Given the description of an element on the screen output the (x, y) to click on. 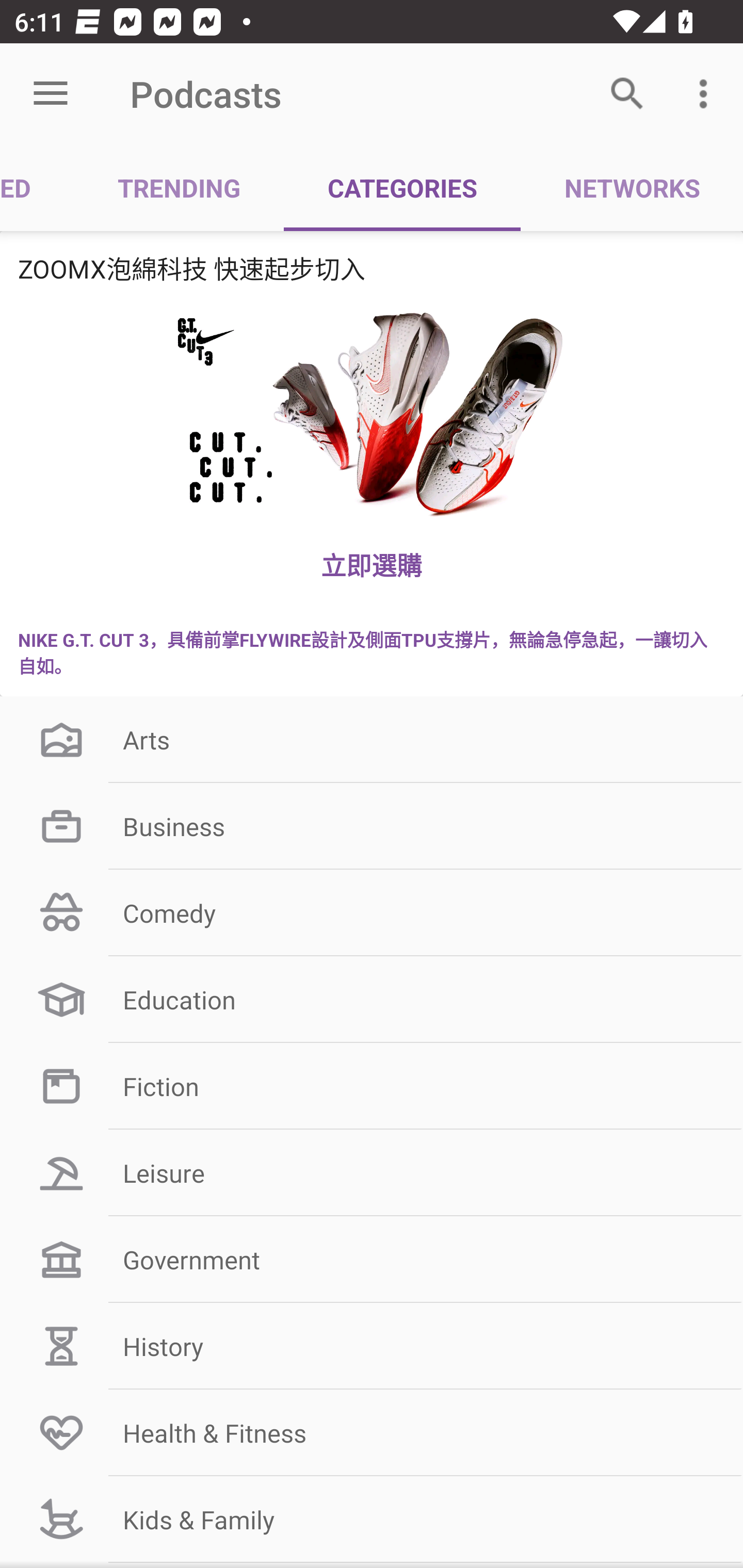
Open menu (50, 93)
Search (626, 93)
More options (706, 93)
TRENDING (178, 187)
CATEGORIES (401, 187)
NETWORKS (631, 187)
ZOOMX泡綿科技 快速起步切入 (371, 267)
立即選購 (371, 564)
Arts (371, 739)
Business (371, 826)
Comedy (371, 913)
Education (371, 999)
Fiction (371, 1085)
Leisure (371, 1172)
Government (371, 1259)
History (371, 1346)
Health & Fitness (371, 1432)
Kids & Family (371, 1519)
